Given the description of an element on the screen output the (x, y) to click on. 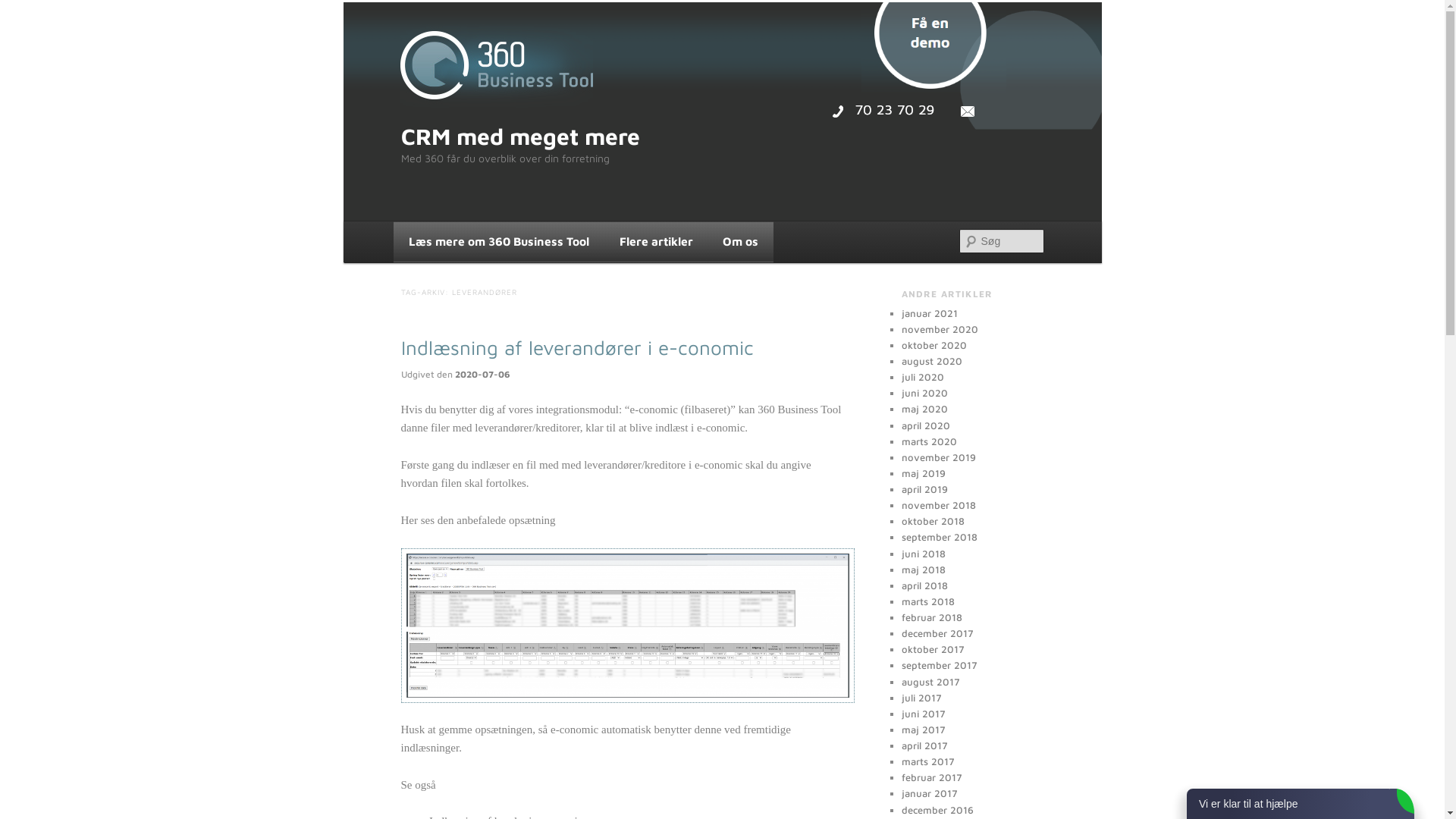
december 2016 Element type: text (936, 809)
oktober 2017 Element type: text (931, 649)
juli 2020 Element type: text (921, 376)
maj 2017 Element type: text (922, 729)
september 2017 Element type: text (938, 664)
april 2019 Element type: text (923, 489)
august 2020 Element type: text (930, 360)
januar 2021 Element type: text (928, 313)
april 2020 Element type: text (924, 425)
juni 2017 Element type: text (922, 713)
april 2018 Element type: text (923, 585)
oktober 2018 Element type: text (931, 520)
august 2017 Element type: text (929, 681)
oktober 2020 Element type: text (933, 344)
juni 2020 Element type: text (923, 392)
2020-07-06 Element type: text (482, 373)
maj 2019 Element type: text (922, 473)
maj 2020 Element type: text (923, 408)
maj 2018 Element type: text (922, 569)
februar 2017 Element type: text (930, 777)
juni 2018 Element type: text (922, 553)
december 2017 Element type: text (936, 633)
september 2018 Element type: text (938, 536)
Flere artikler Element type: text (656, 241)
november 2020 Element type: text (938, 329)
januar 2017 Element type: text (928, 793)
CRM med meget mere Element type: text (519, 135)
marts 2020 Element type: text (928, 441)
november 2018 Element type: text (937, 504)
juli 2017 Element type: text (920, 697)
Om os Element type: text (740, 241)
marts 2017 Element type: text (926, 761)
februar 2018 Element type: text (930, 617)
november 2019 Element type: text (937, 457)
marts 2018 Element type: text (926, 601)
april 2017 Element type: text (923, 745)
